Given the description of an element on the screen output the (x, y) to click on. 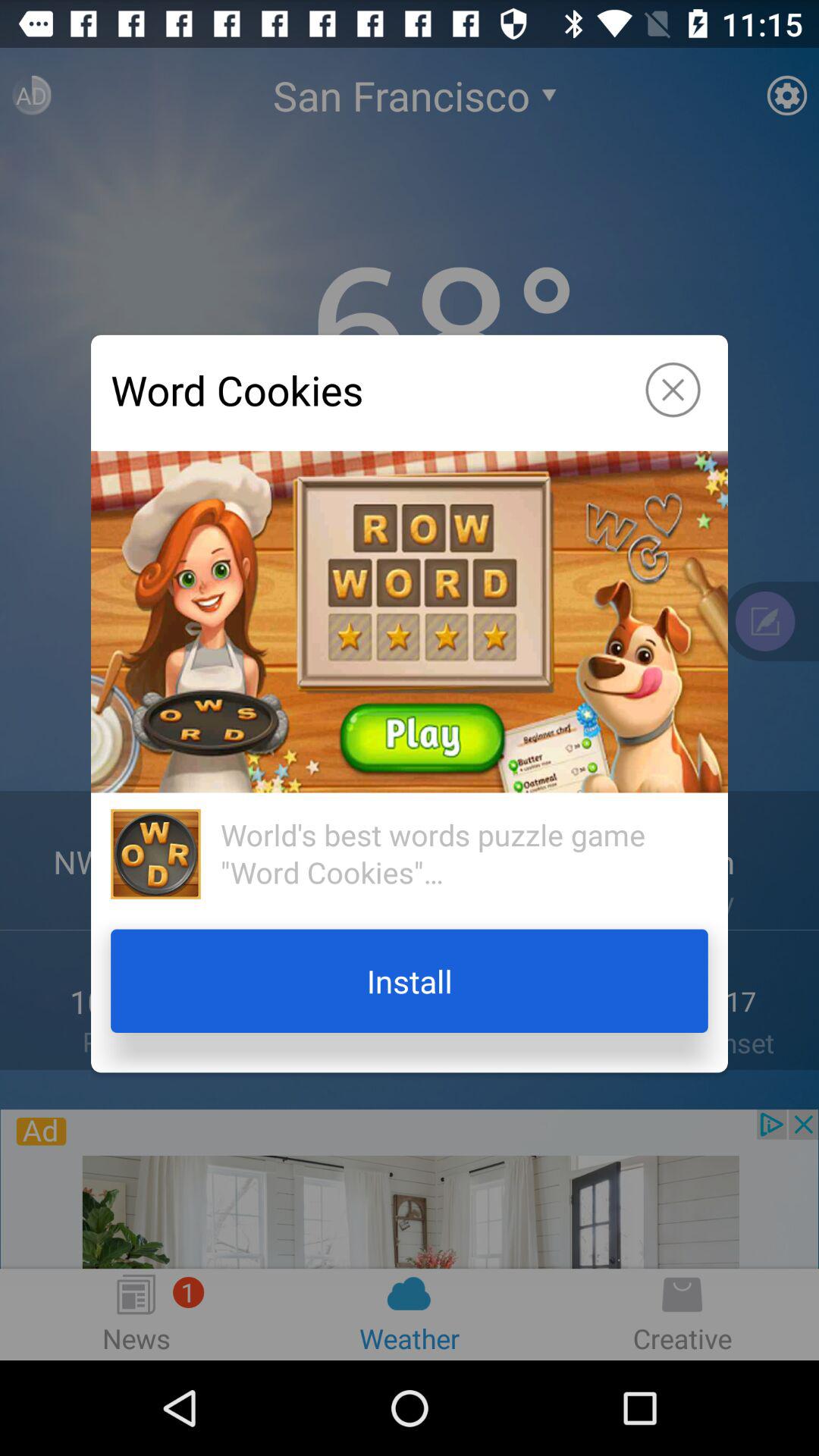
choose icon to the right of word cookies app (673, 389)
